Given the description of an element on the screen output the (x, y) to click on. 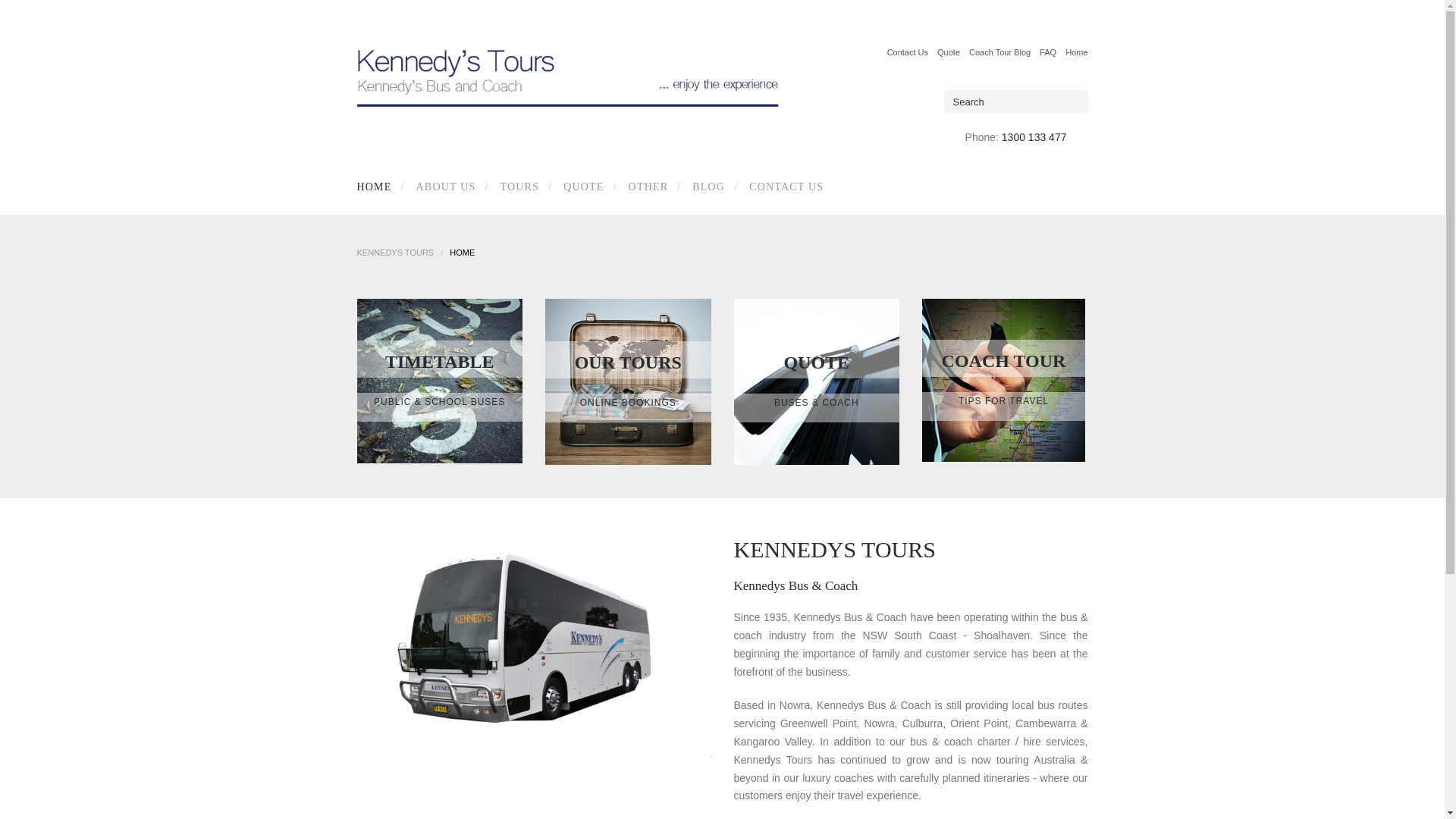
KENNEDYS TOURS Element type: text (394, 252)
OUR TOURS Element type: text (628, 362)
Search Element type: text (28, 13)
Quote Element type: text (948, 51)
Contact Us Element type: text (907, 51)
Home Element type: text (1076, 51)
QUOTE Element type: text (817, 362)
Coach Tour Blog Element type: text (999, 51)
ABOUT US Element type: text (443, 187)
QUOTE Element type: text (580, 187)
ONLINE BOOKINGS Element type: text (628, 402)
HOME Element type: text (378, 187)
TIPS FOR TRAVEL Element type: text (1003, 401)
BLOG Element type: text (705, 187)
PUBLIC & SCHOOL BUSES Element type: text (439, 401)
1300 133 477 Element type: text (1033, 137)
FAQ Element type: text (1047, 51)
TOURS Element type: text (517, 187)
OTHER Element type: text (645, 187)
CONTACT US Element type: text (783, 187)
BUSES & COACH Element type: text (817, 402)
TIMETABLE Element type: text (439, 361)
COACH TOUR Element type: text (1003, 360)
